Given the description of an element on the screen output the (x, y) to click on. 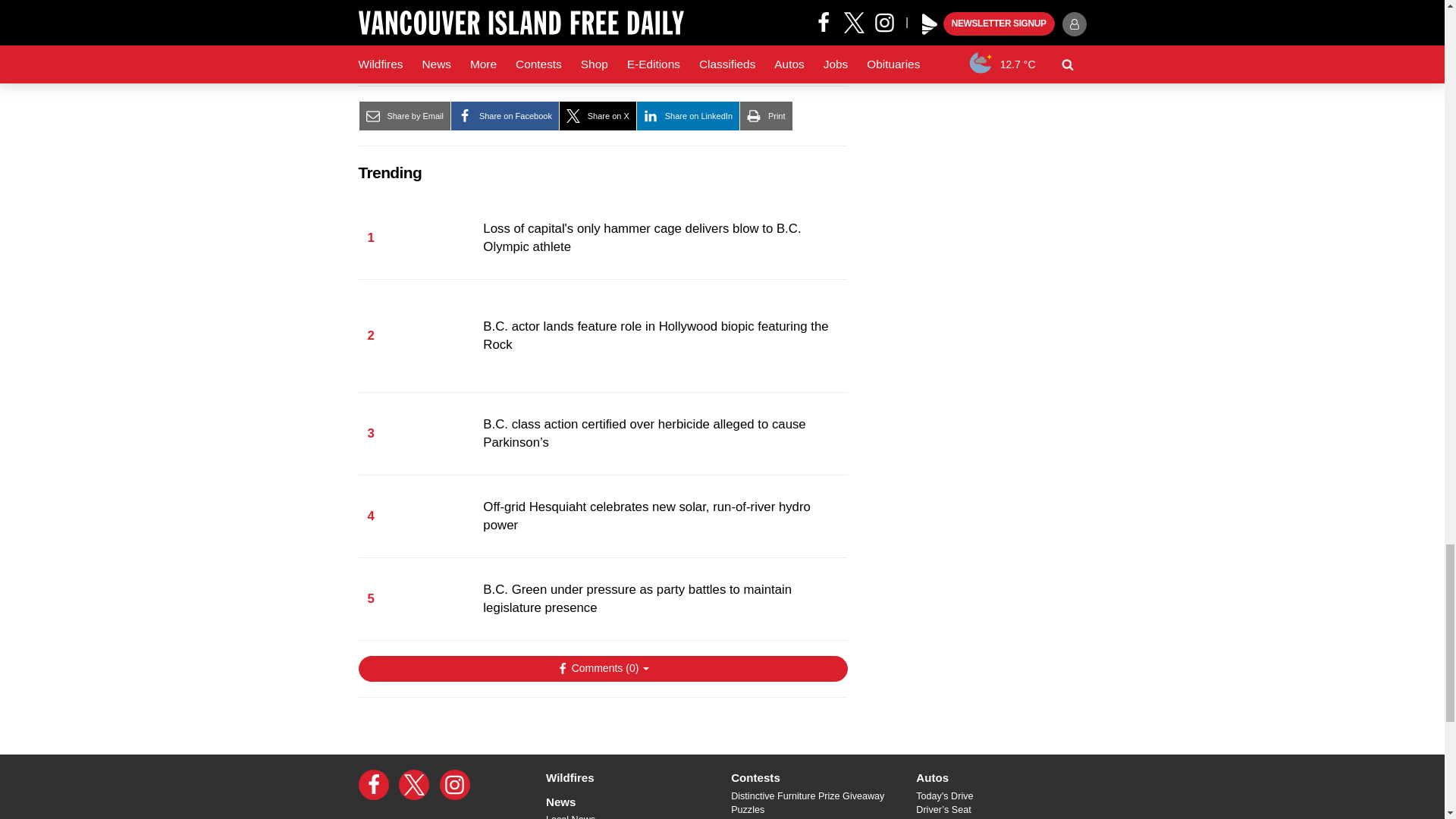
Instagram (454, 784)
Facebook (373, 784)
Show Comments (602, 668)
X (413, 784)
